Given the description of an element on the screen output the (x, y) to click on. 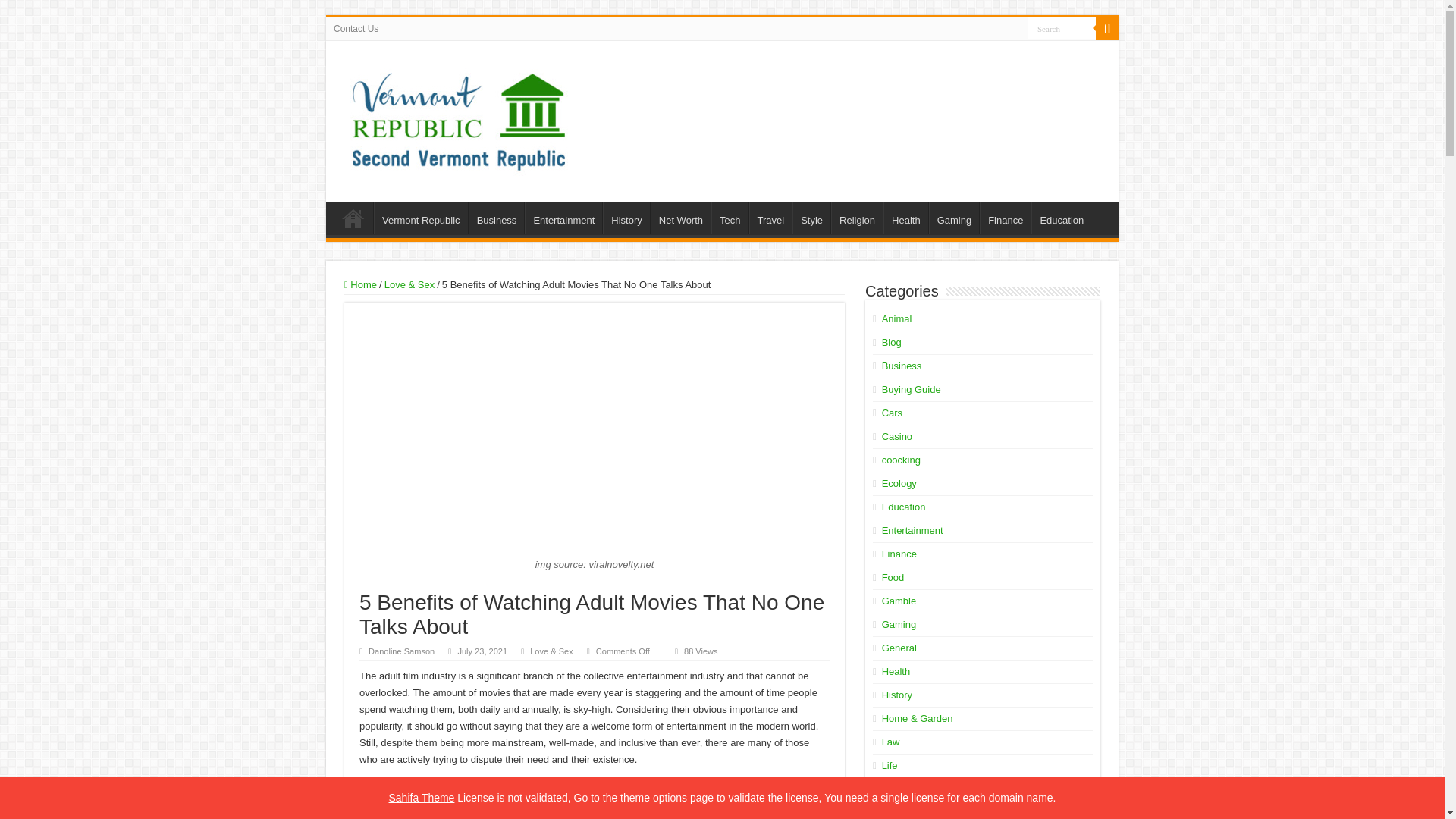
Tech (729, 218)
Vermont Republic (420, 218)
Travel (770, 218)
Entertainment (563, 218)
Search (1061, 28)
Net Worth (680, 218)
History (625, 218)
Search (1107, 28)
Education (1060, 218)
Religion (856, 218)
Contact Us (355, 28)
Danoline Samson (400, 651)
Home (360, 284)
Vermont Republic (458, 115)
Gaming (953, 218)
